Given the description of an element on the screen output the (x, y) to click on. 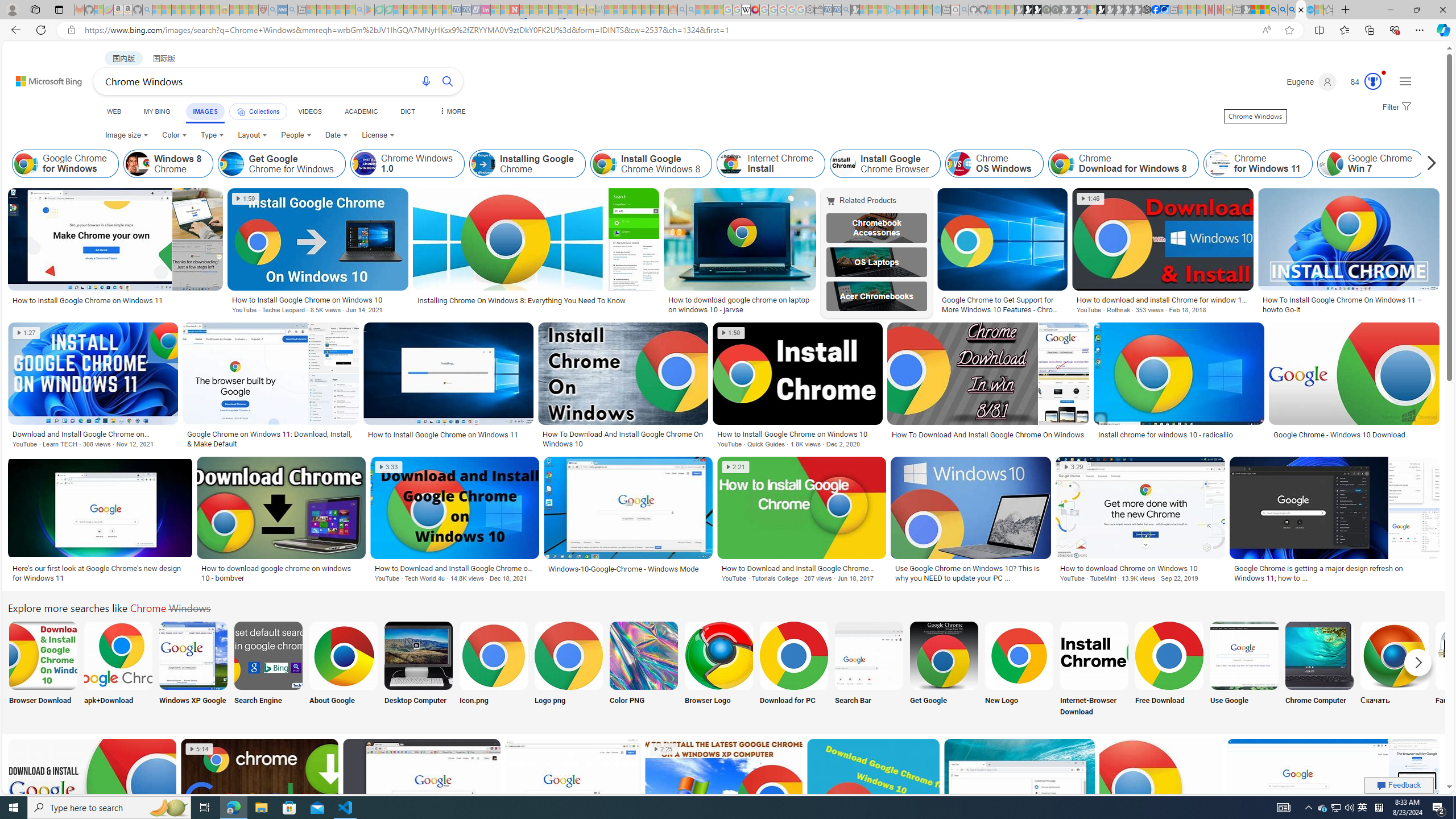
Installing Chrome On Windows 8: Everything You Need To Know (536, 299)
MediaWiki (754, 9)
VIDEOS (310, 111)
Services - Maintenance | Sky Blue Bikes - Sky Blue Bikes (1309, 9)
Target page - Wikipedia (745, 9)
How to download Chrome on Windows 10 (1139, 568)
Microsoft Rewards 84 (1362, 81)
Windows 8 Chrome (167, 163)
Installing Google Chrome (527, 163)
Chrome Desktop Computer Desktop Computer (418, 669)
Chrome Download for PC Download for PC (794, 669)
